Given the description of an element on the screen output the (x, y) to click on. 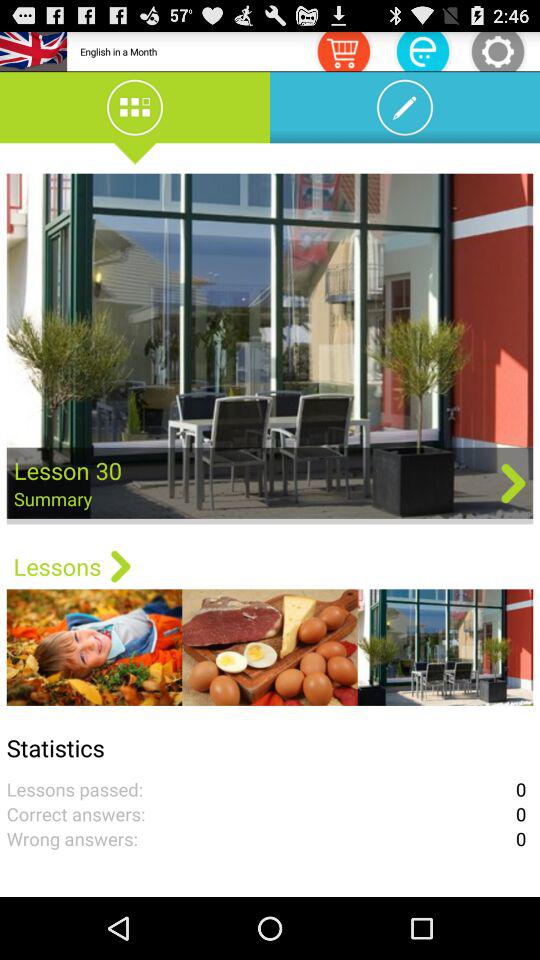
go to lesson 30 summary (269, 348)
